Given the description of an element on the screen output the (x, y) to click on. 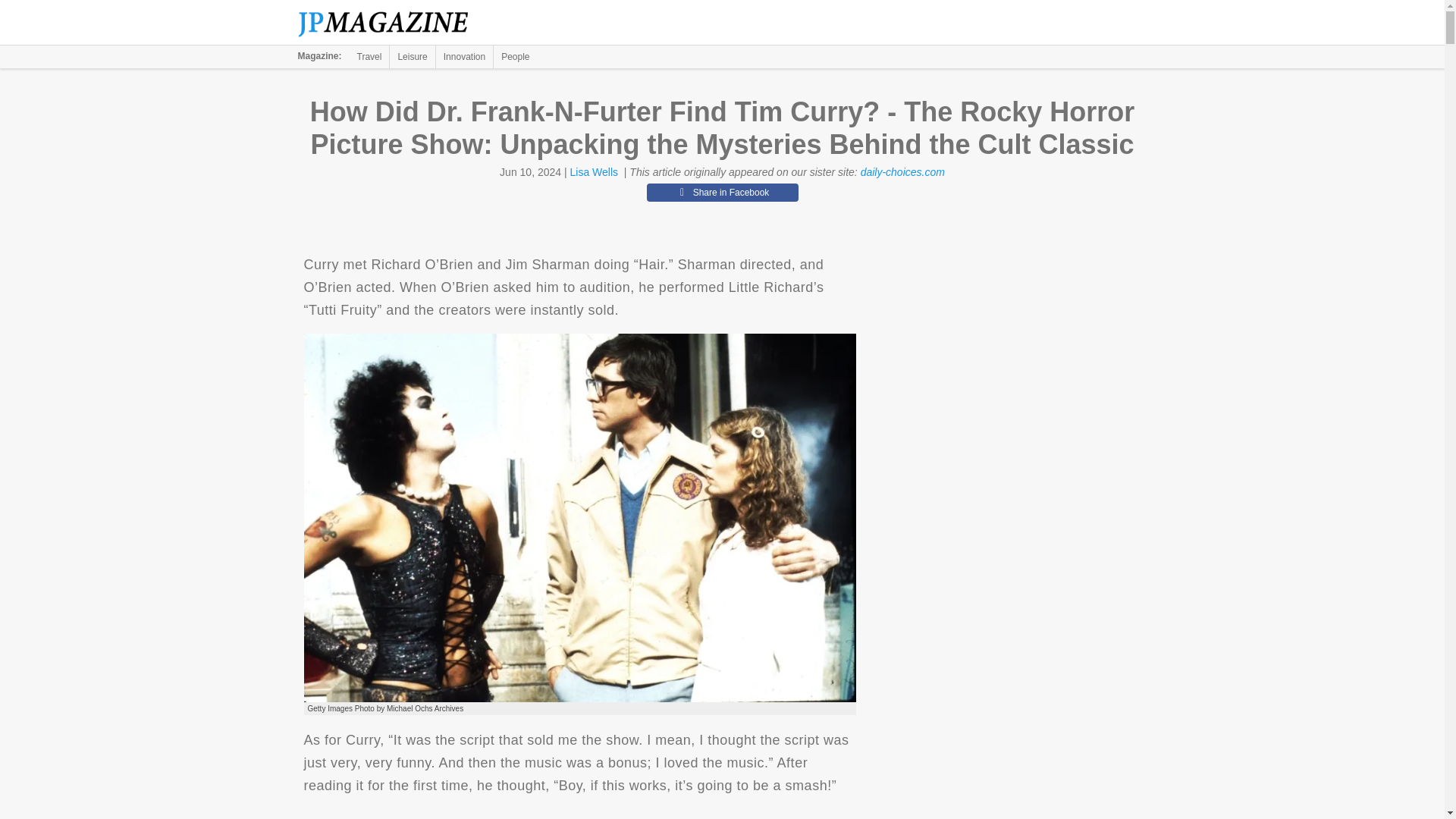
Travel (369, 56)
Share in Facebook (721, 192)
The Jerusalem Post Magazine (391, 22)
Leisure (411, 56)
daily-choices.com (902, 172)
People (515, 56)
Innovation (464, 56)
Lisa Wells (594, 172)
